Given the description of an element on the screen output the (x, y) to click on. 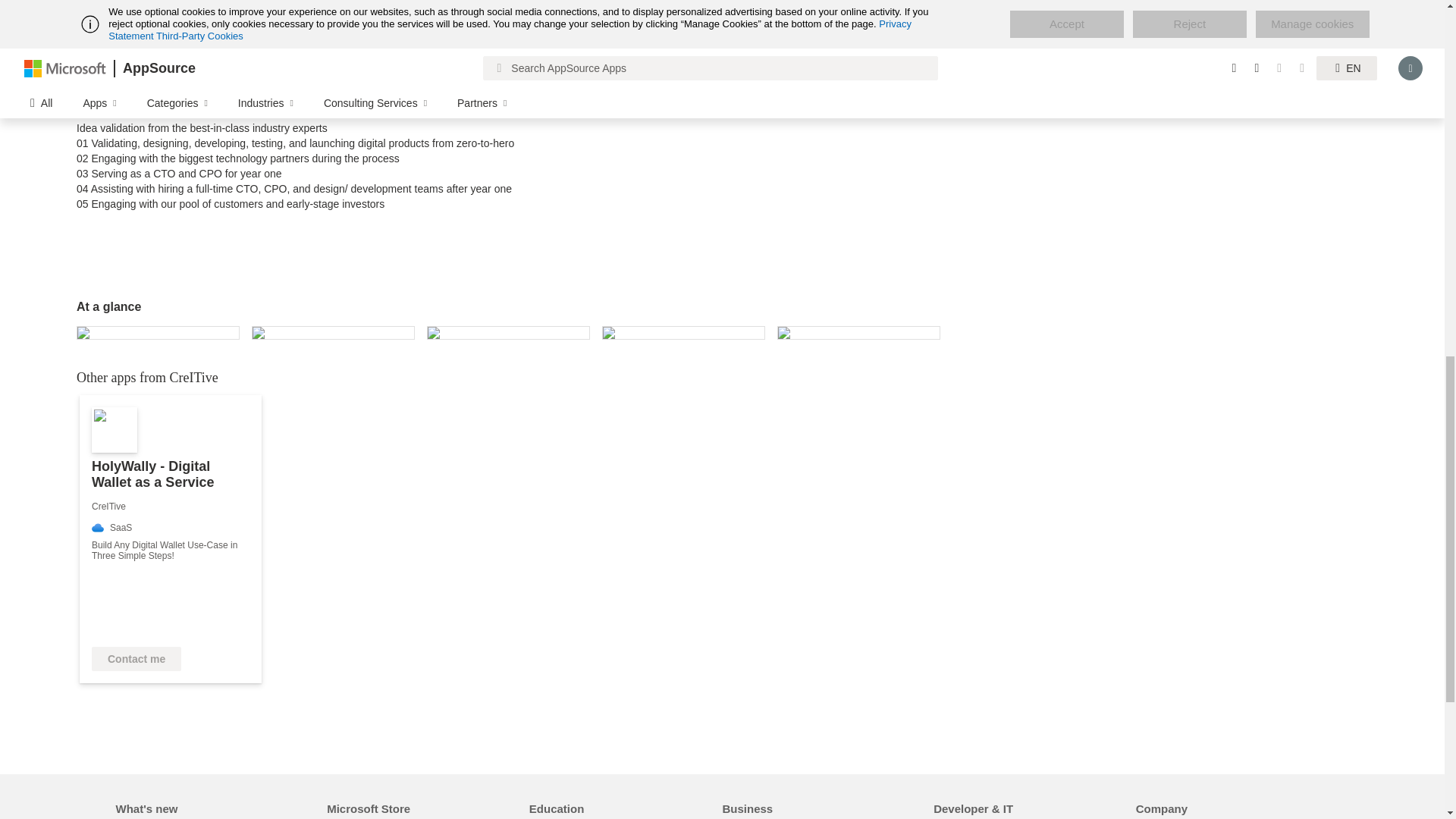
Contact me (135, 658)
